Given the description of an element on the screen output the (x, y) to click on. 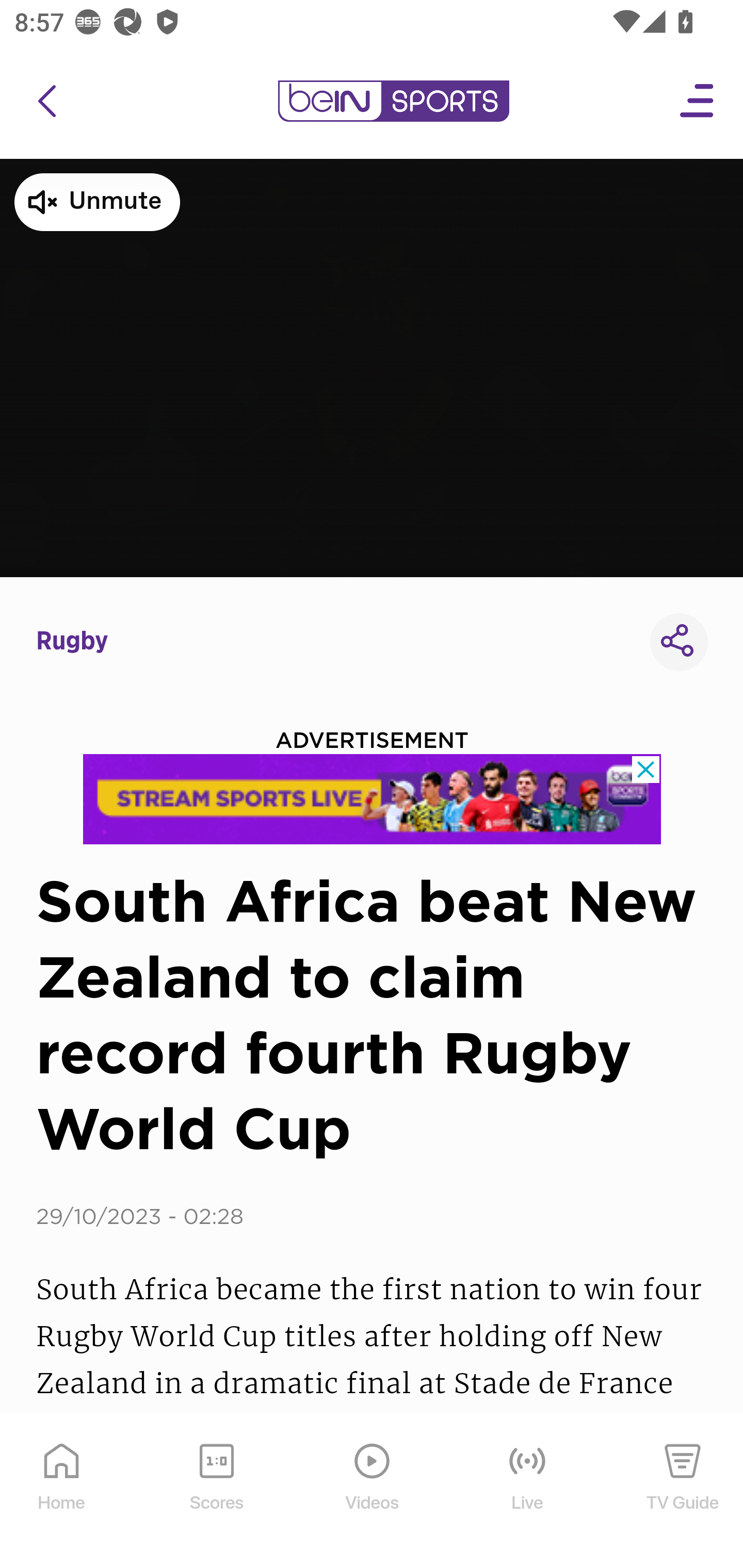
en-my?platform=mobile_android bein logo (392, 101)
icon back (46, 101)
Open Menu Icon (697, 101)
Unmute (371, 367)
Unmute (97, 202)
l8psv8uu (372, 799)
Home Home Icon Home (61, 1491)
Scores Scores Icon Scores (216, 1491)
Videos Videos Icon Videos (372, 1491)
TV Guide TV Guide Icon TV Guide (682, 1491)
